Given the description of an element on the screen output the (x, y) to click on. 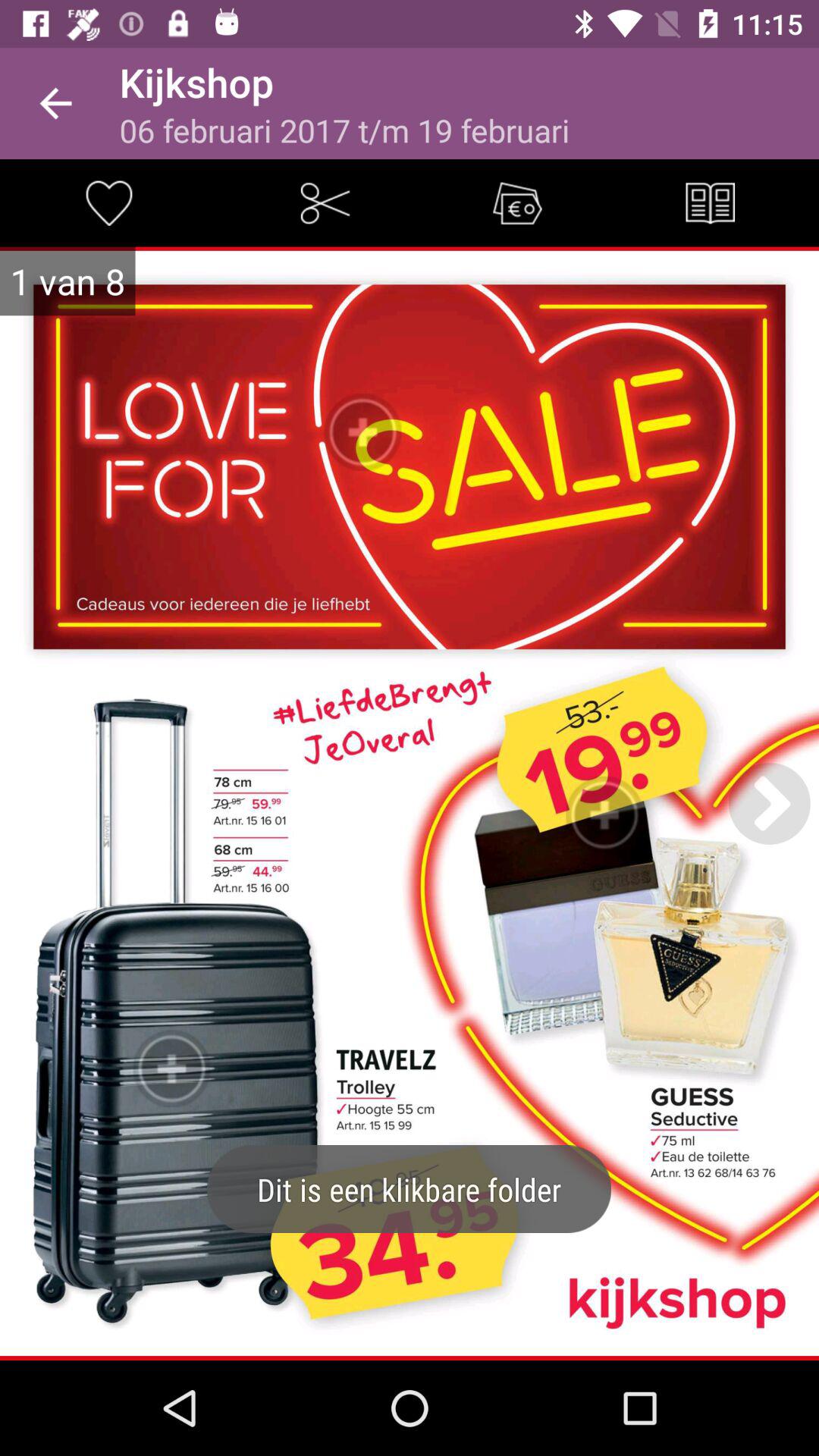
go to deals (517, 202)
